Given the description of an element on the screen output the (x, y) to click on. 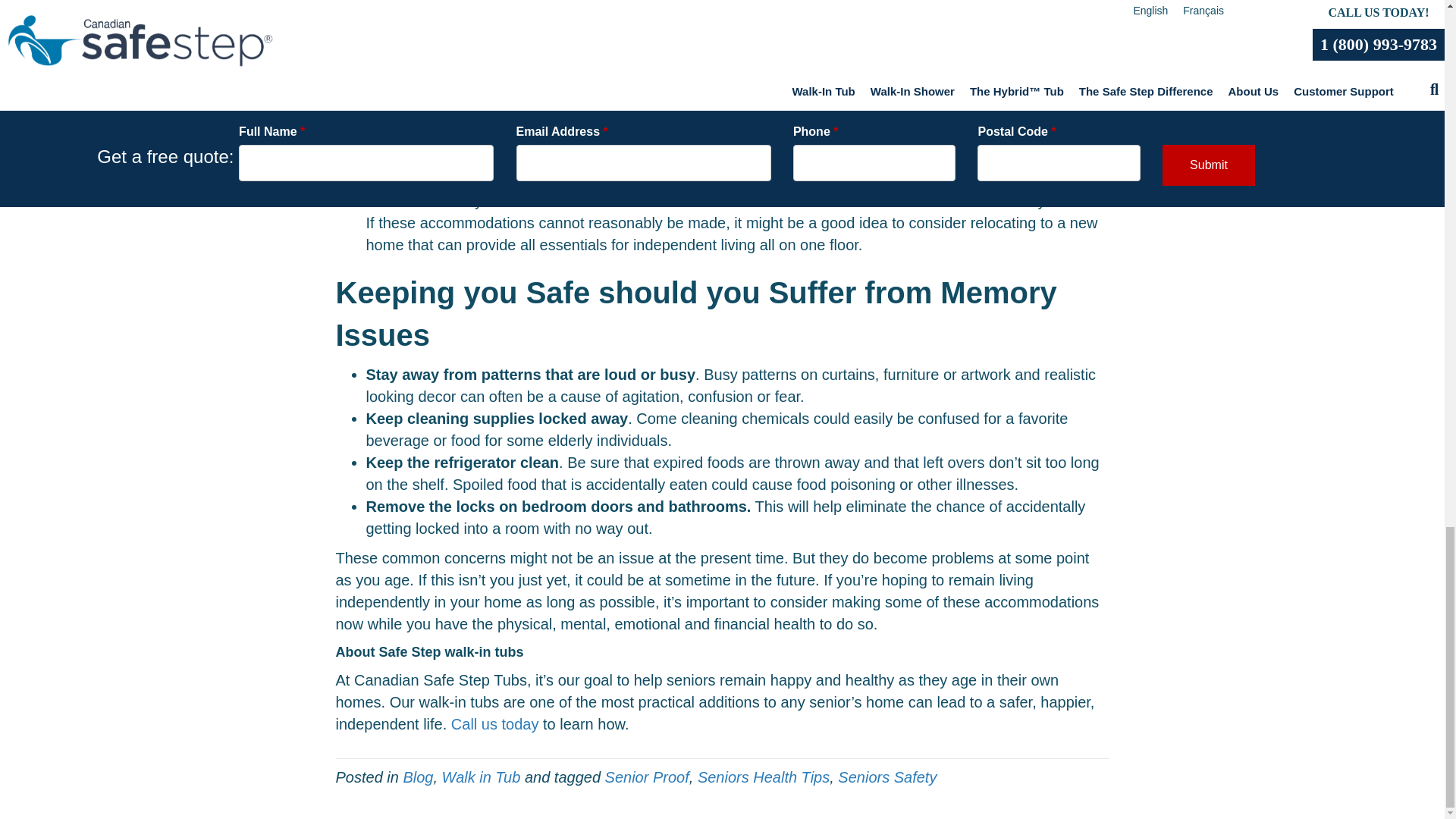
Blog (417, 777)
Seniors Safety (887, 777)
Walk in Tub (481, 777)
Senior Proof (646, 777)
Call us today (494, 723)
Seniors Health Tips (763, 777)
